Given the description of an element on the screen output the (x, y) to click on. 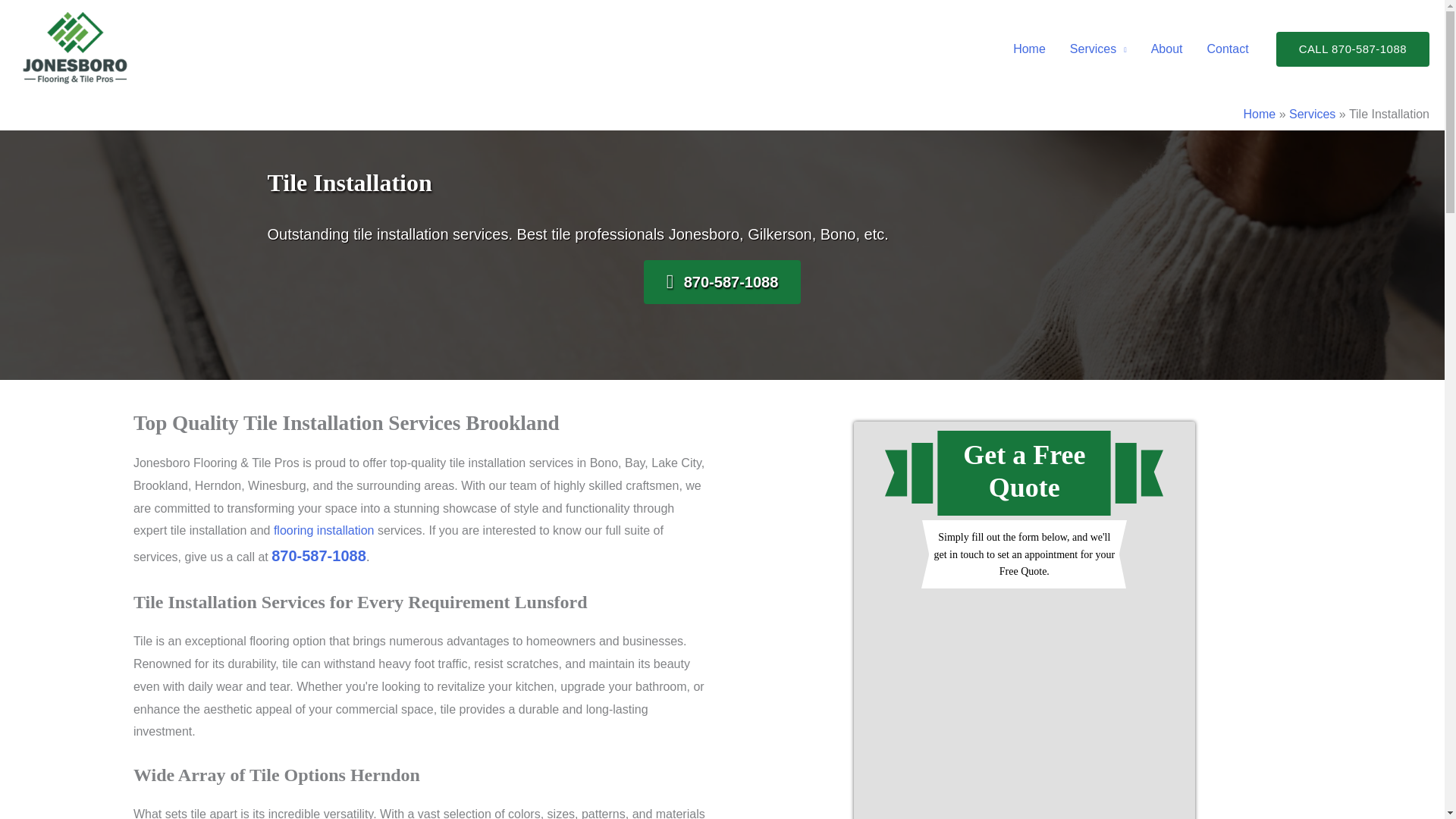
Home (1029, 49)
CALL 870-587-1088 (1352, 49)
870-587-1088 (318, 556)
Home (1259, 113)
Services (1311, 113)
flooring installation (323, 530)
870-587-1088 (722, 281)
Services (1098, 49)
About (1166, 49)
Contact (1227, 49)
